Given the description of an element on the screen output the (x, y) to click on. 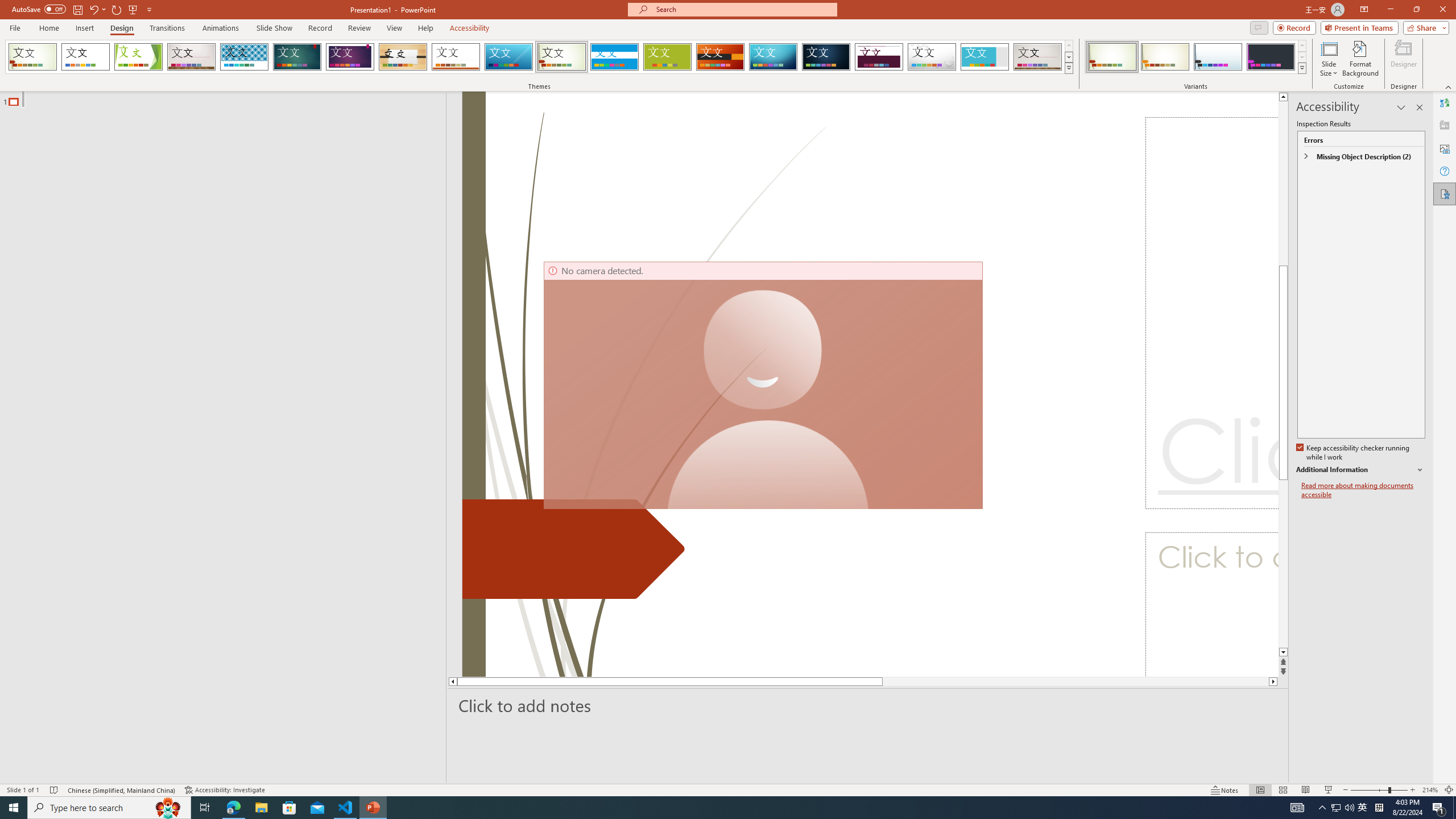
Circuit (772, 56)
Translator (1444, 102)
Wisp Variant 3 (1217, 56)
